Given the description of an element on the screen output the (x, y) to click on. 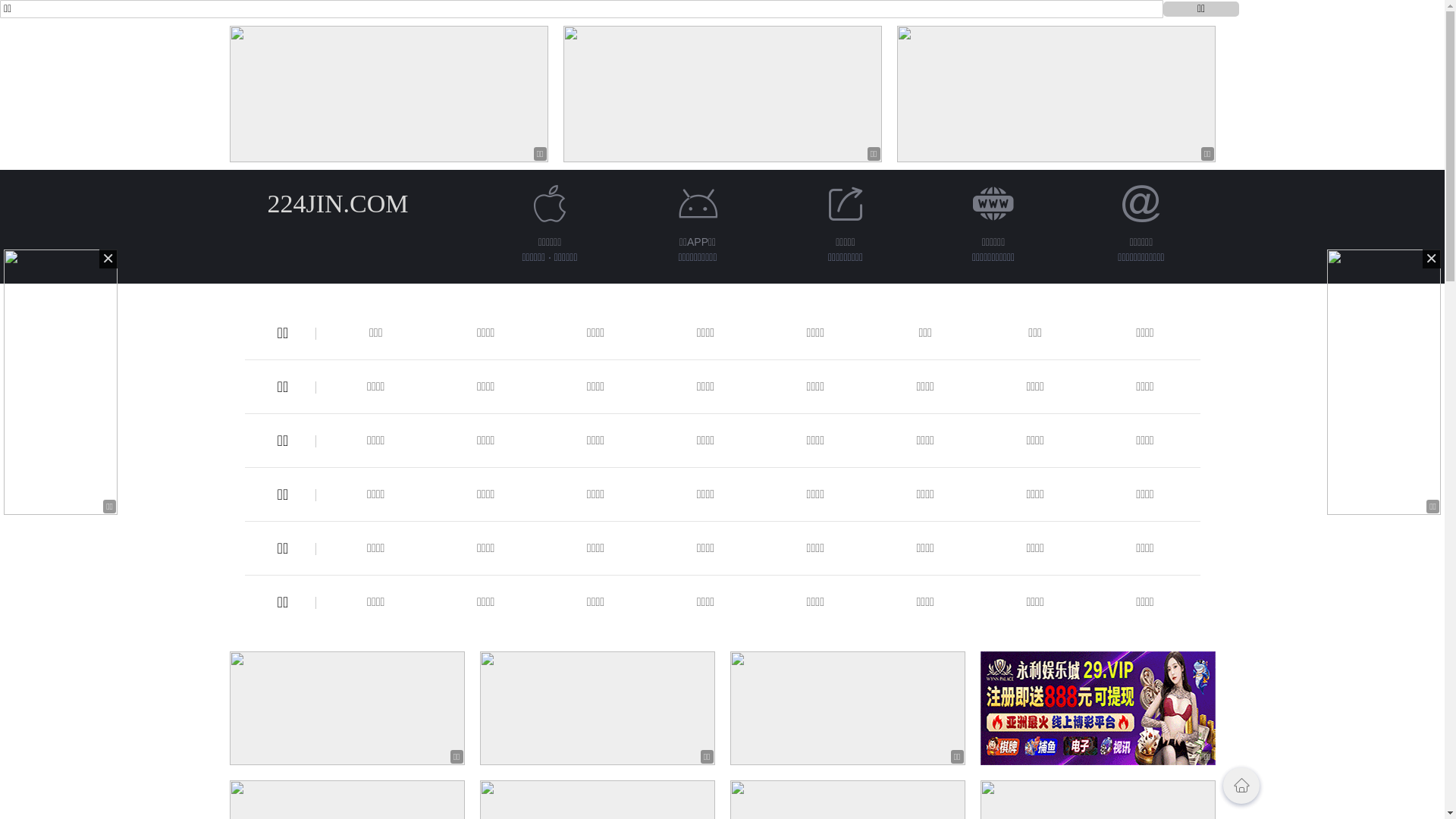
224JIN.COM Element type: text (336, 203)
